Given the description of an element on the screen output the (x, y) to click on. 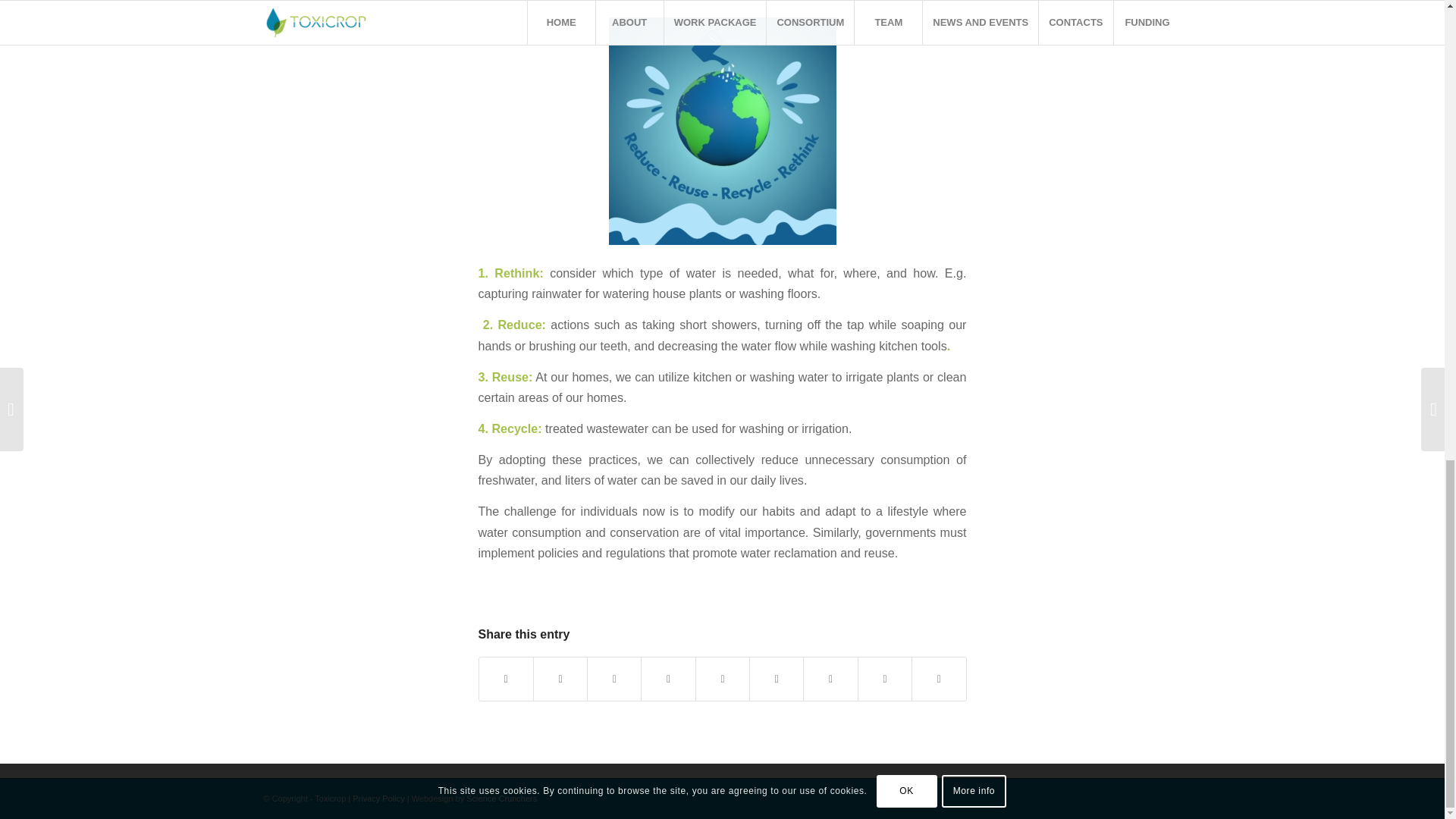
Privacy Policy (378, 798)
Science Crunchers (501, 798)
